Given the description of an element on the screen output the (x, y) to click on. 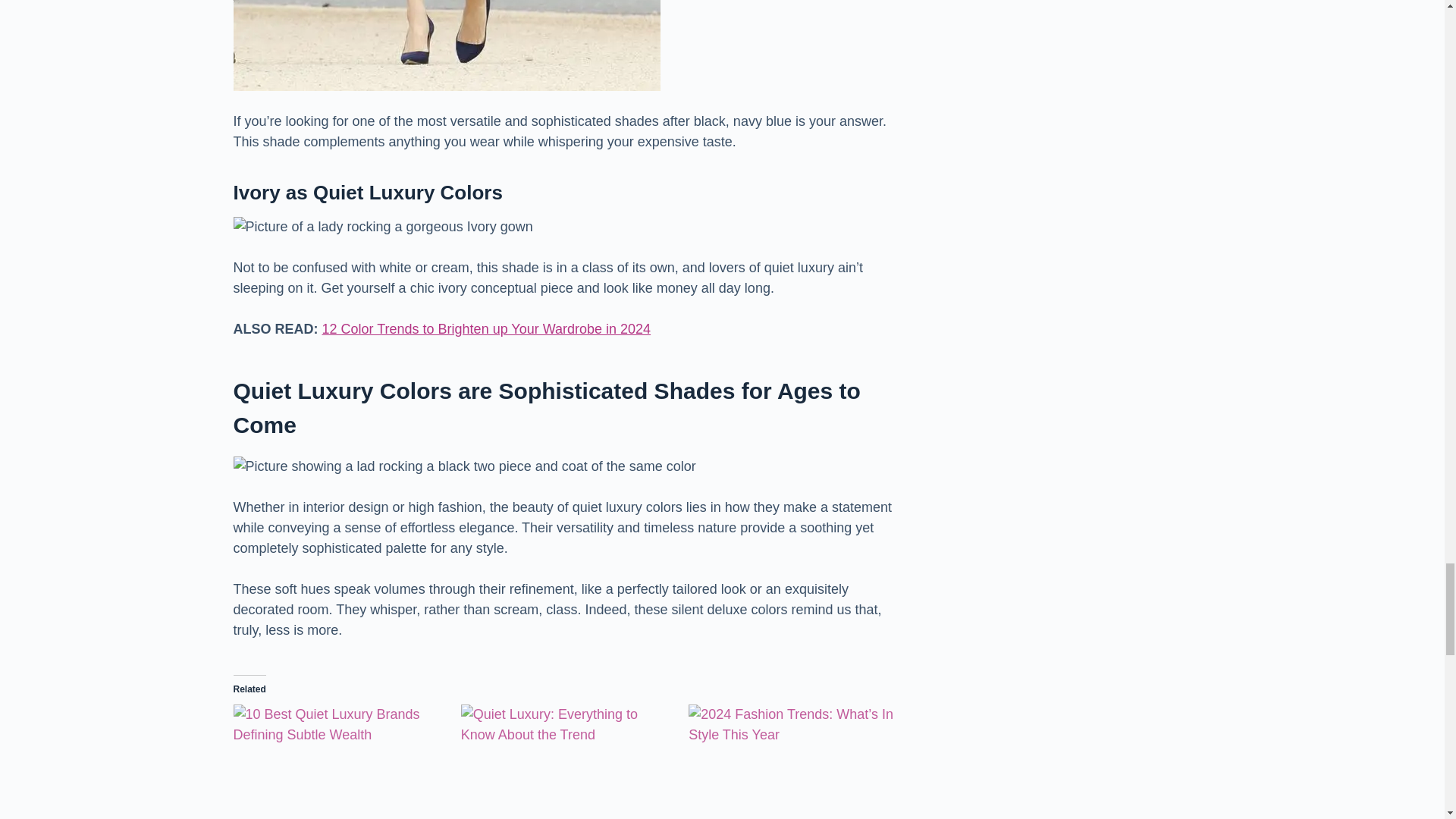
Quiet Luxury: Everything to Know About the Trend (566, 761)
10 Best Quiet Luxury Brands Defining Subtle Wealth (338, 761)
9 Chic 2024 Fashion Trends You Should Start Wearing (794, 761)
